Given the description of an element on the screen output the (x, y) to click on. 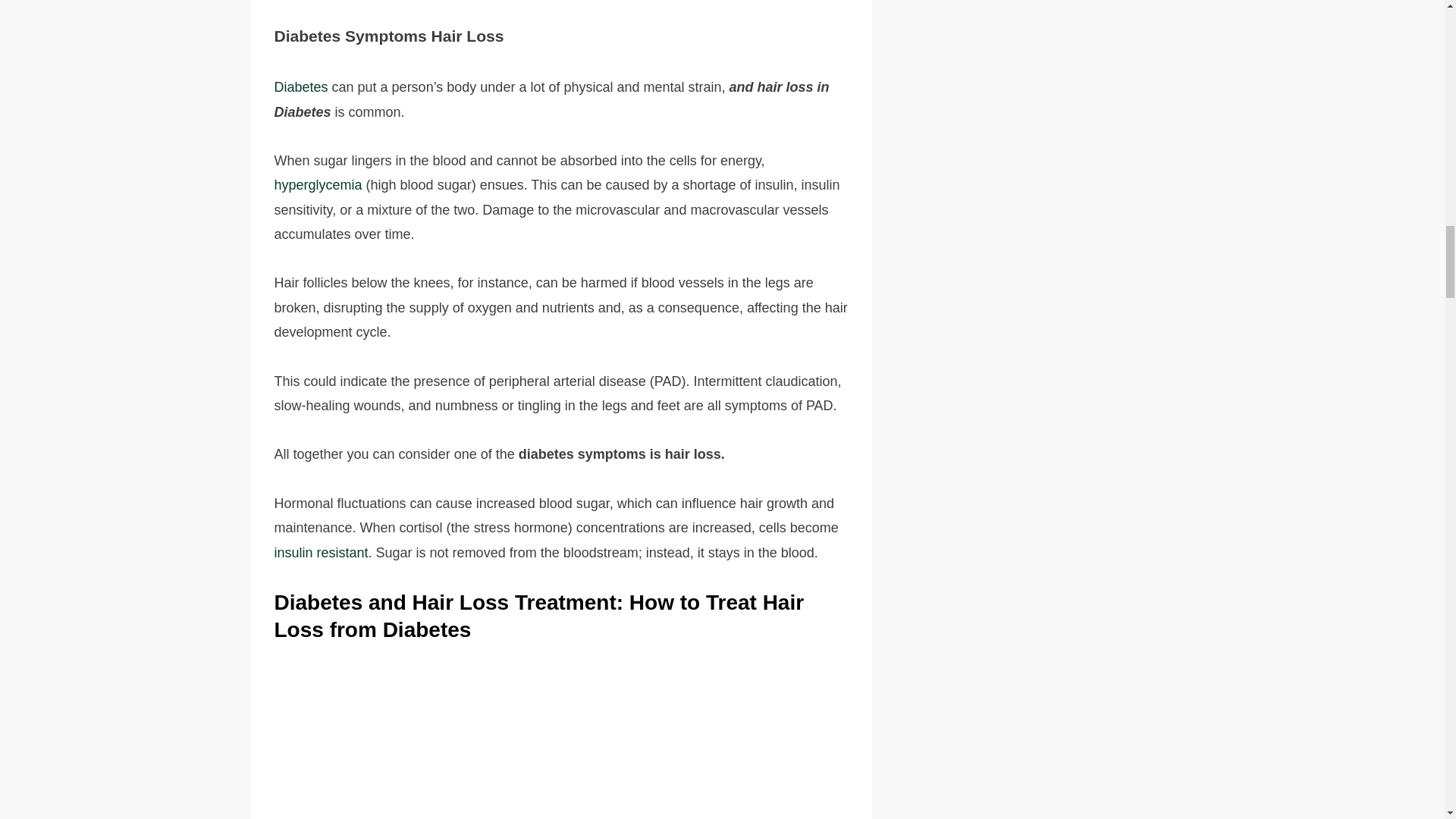
Diabetes (302, 87)
hyperglycemia (320, 184)
insulin resistant (321, 552)
